Given the description of an element on the screen output the (x, y) to click on. 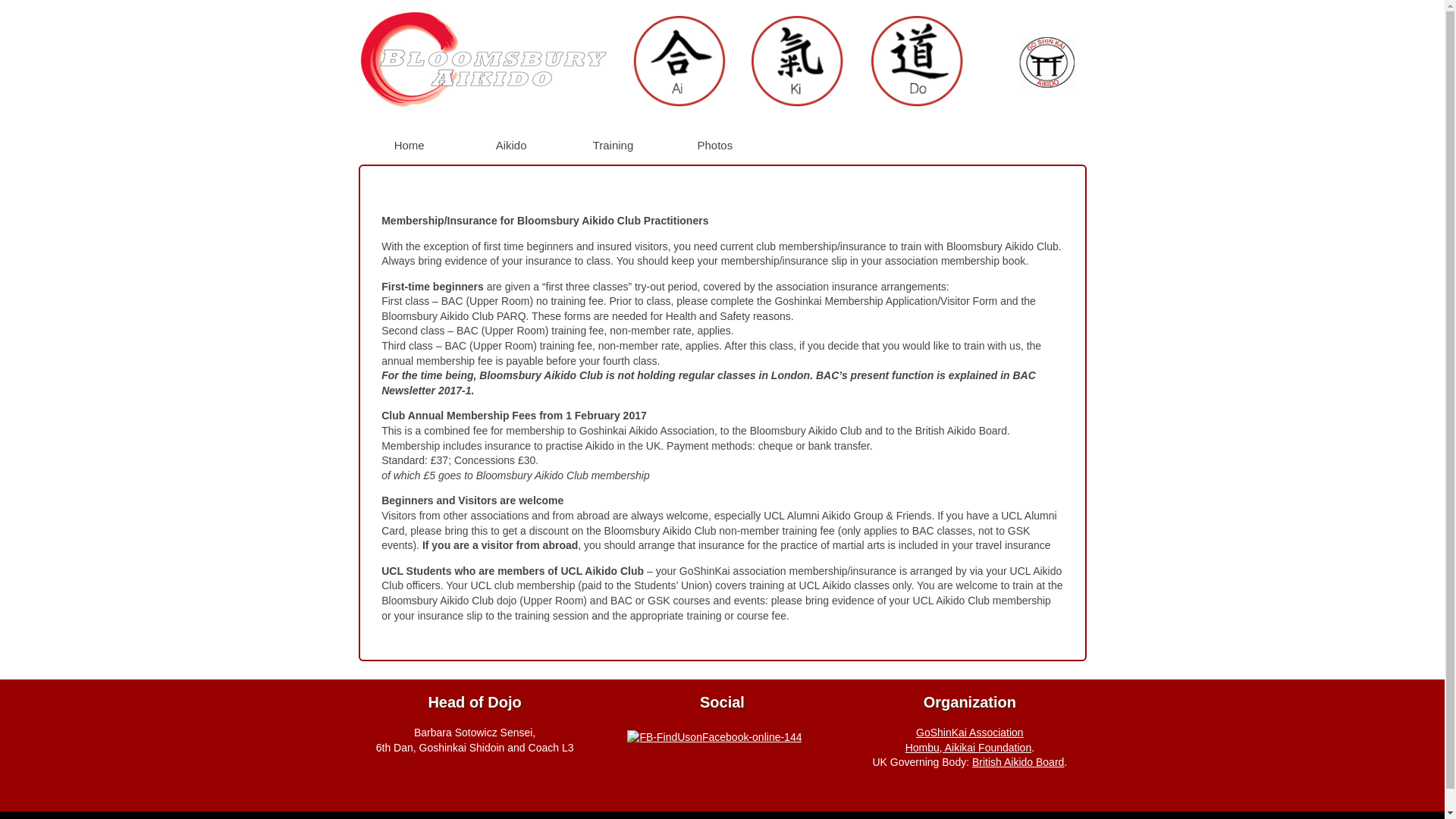
Photos (715, 144)
Training (612, 144)
British Aikido Board (1018, 761)
Home (409, 144)
Hombu, Aikikai Foundation (968, 747)
Aikido (511, 144)
GoShinKai Association (969, 732)
